Given the description of an element on the screen output the (x, y) to click on. 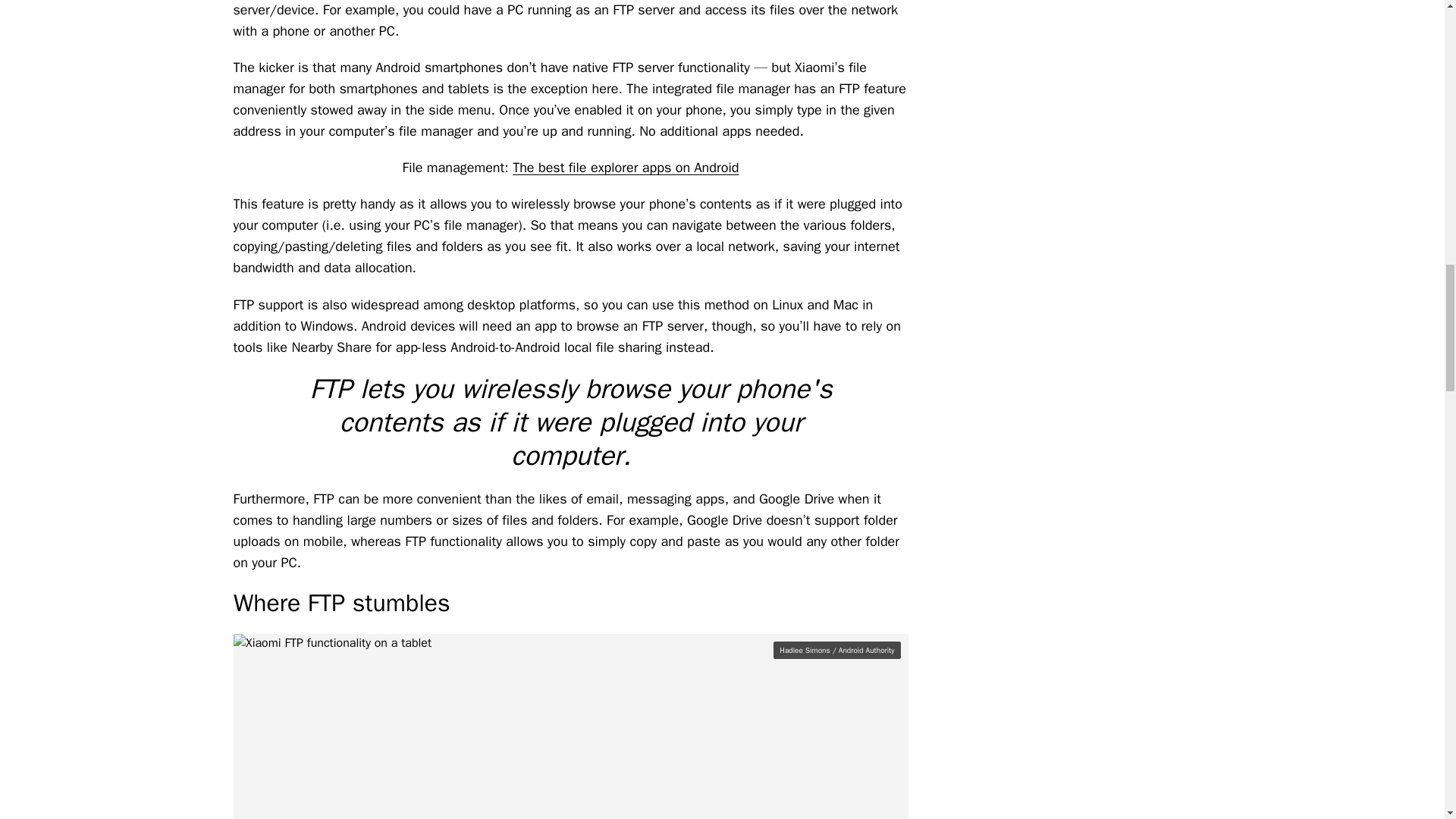
Xiaomi FTP on tablet (570, 726)
The best file explorer apps on Android (625, 167)
